Given the description of an element on the screen output the (x, y) to click on. 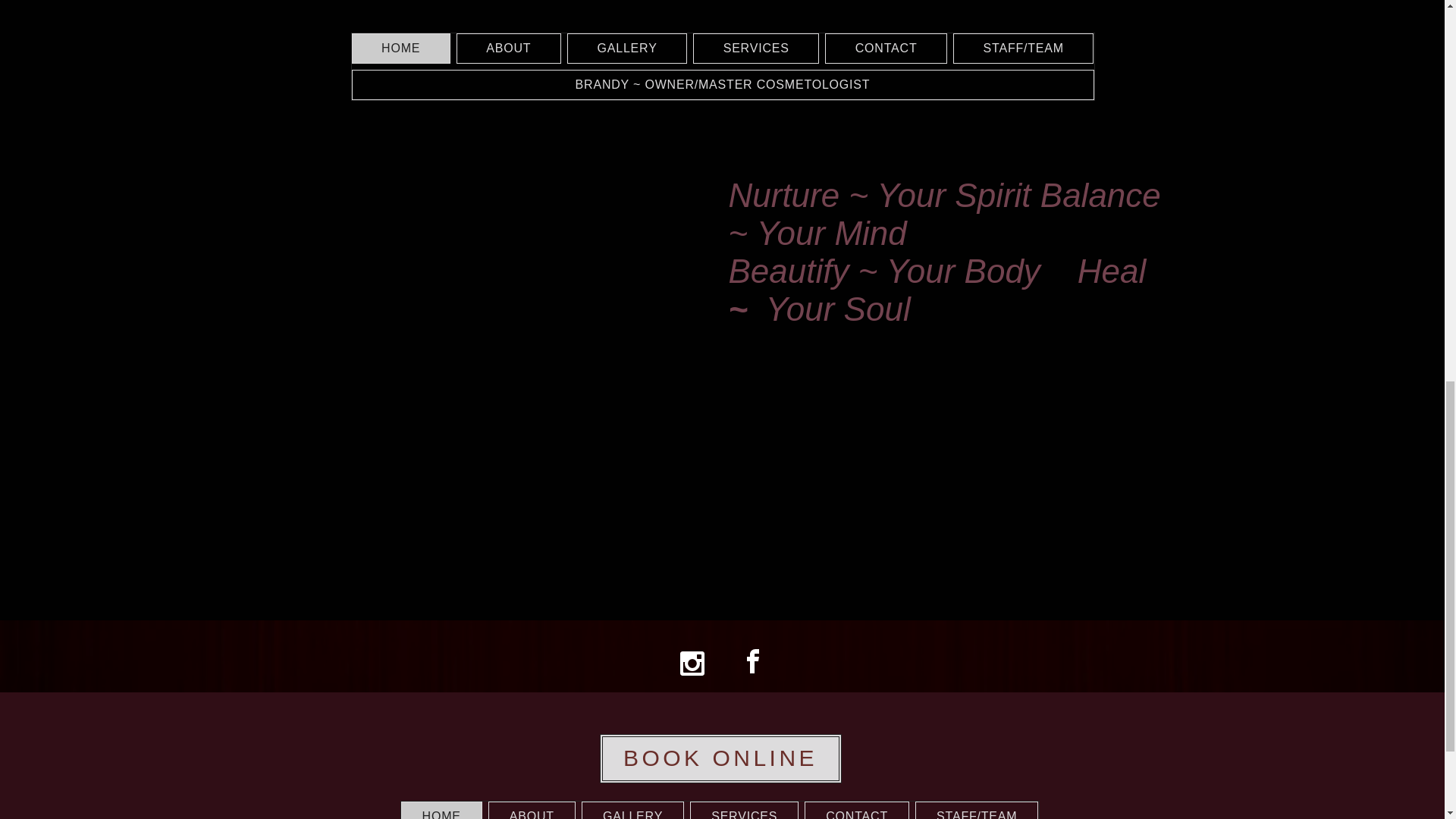
GALLERY (632, 810)
HOME (440, 810)
BOOK ONLINE (719, 757)
ABOUT (531, 810)
CONTACT (856, 810)
SERVICES (743, 810)
